Given the description of an element on the screen output the (x, y) to click on. 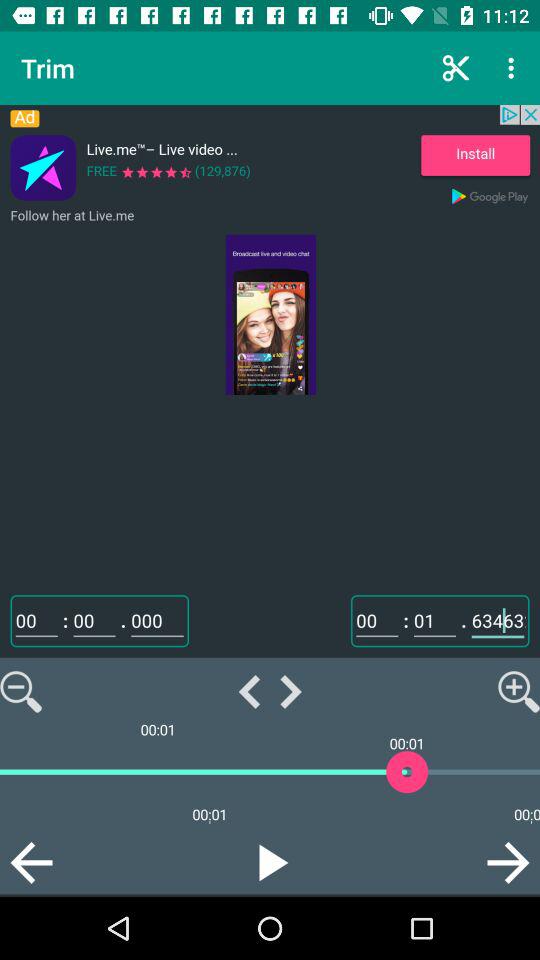
select the magnifying icon on the web page (518, 692)
select the text field above the magnifying icon on the web page (498, 621)
click on the arrows which is in between zoom in and zoom out icons (269, 692)
the icon shown left to three vertical dot icon at the top right corner of the page (456, 68)
